Given the description of an element on the screen output the (x, y) to click on. 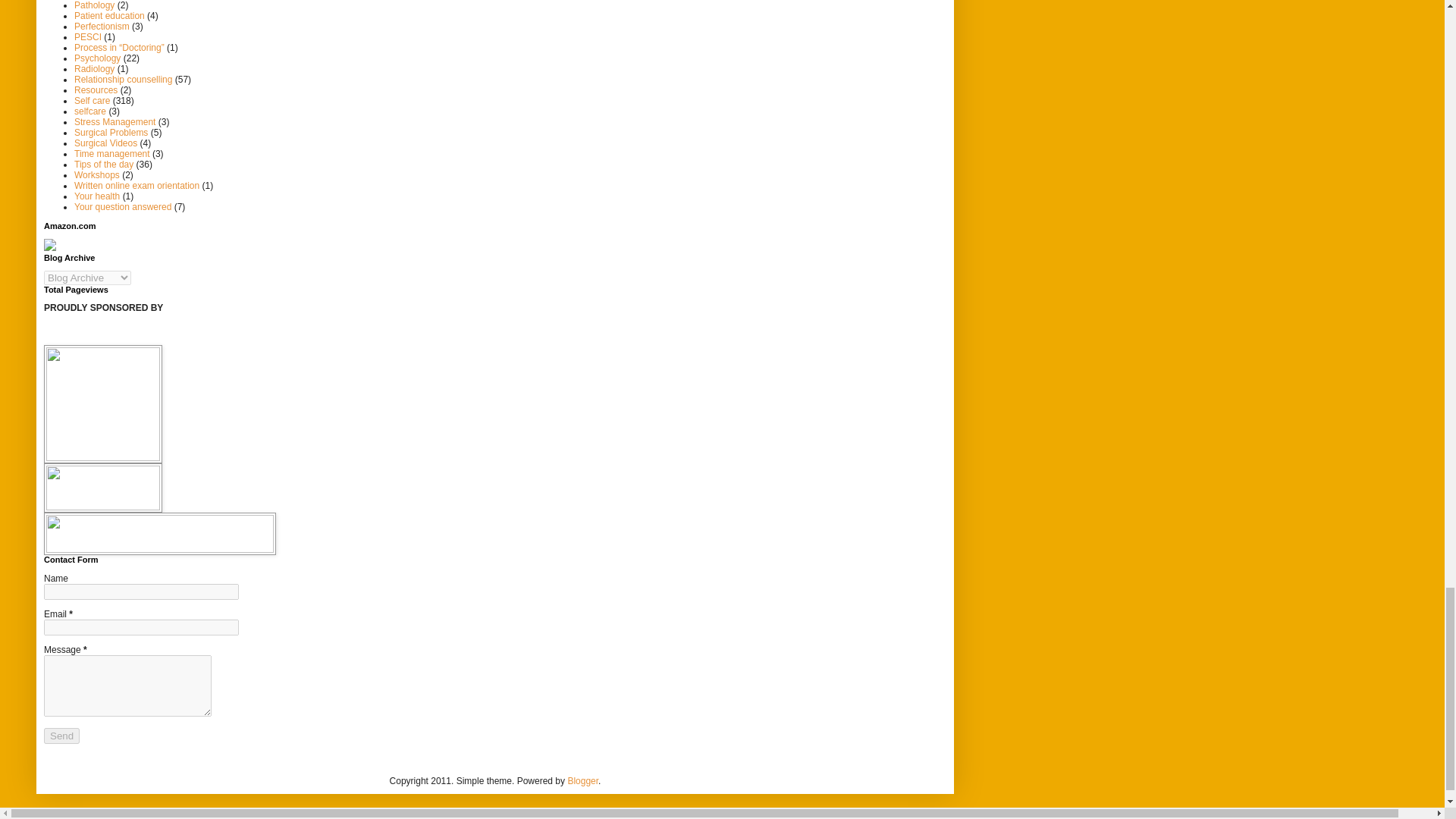
Send (61, 735)
